Given the description of an element on the screen output the (x, y) to click on. 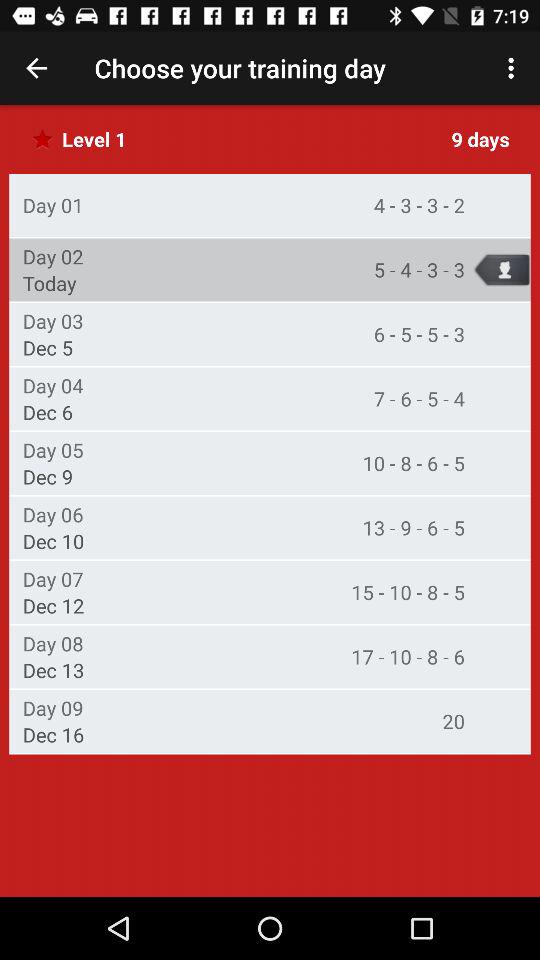
click app next to choose your training item (36, 68)
